Given the description of an element on the screen output the (x, y) to click on. 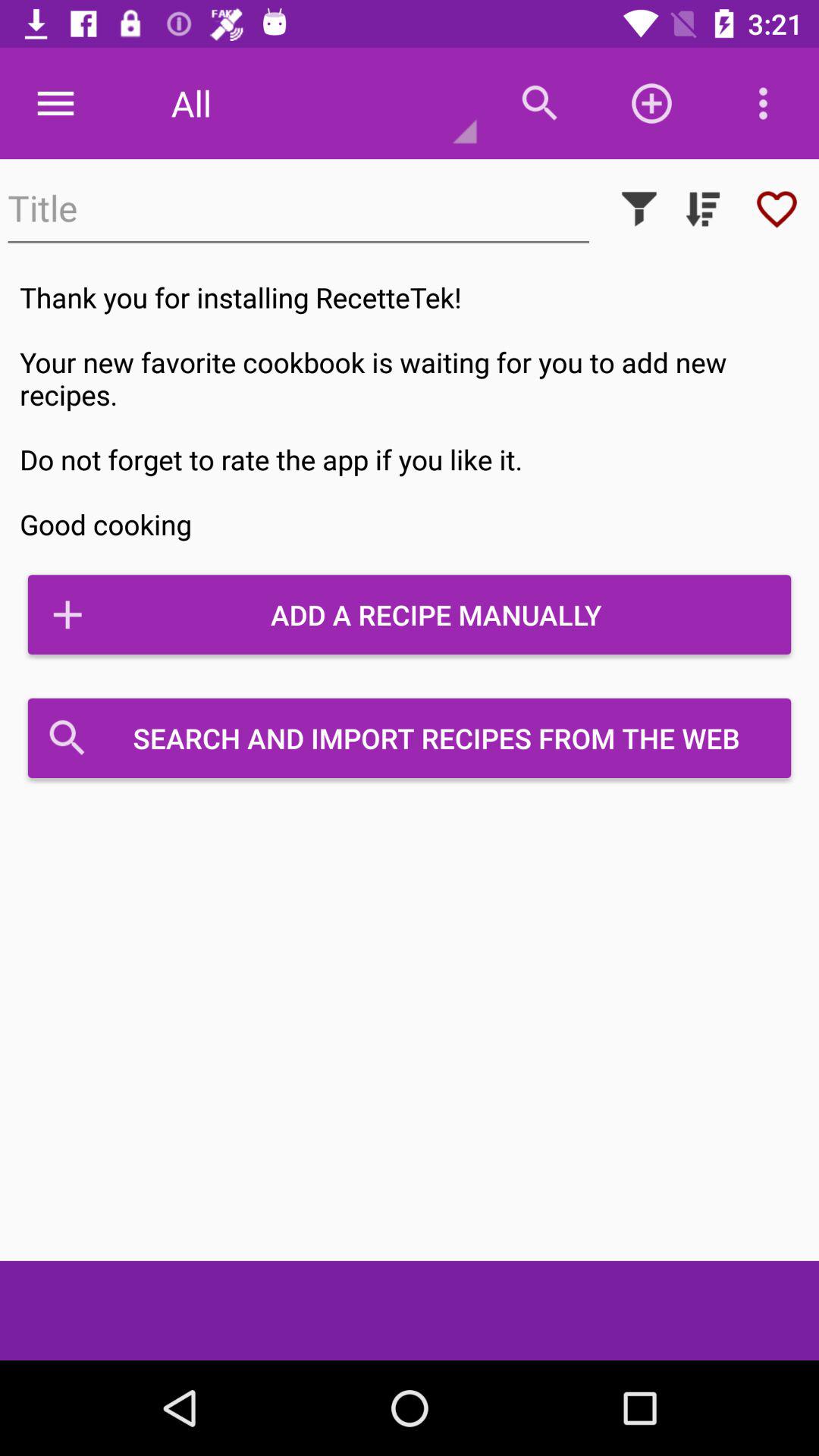
save the recipe page (776, 208)
